Given the description of an element on the screen output the (x, y) to click on. 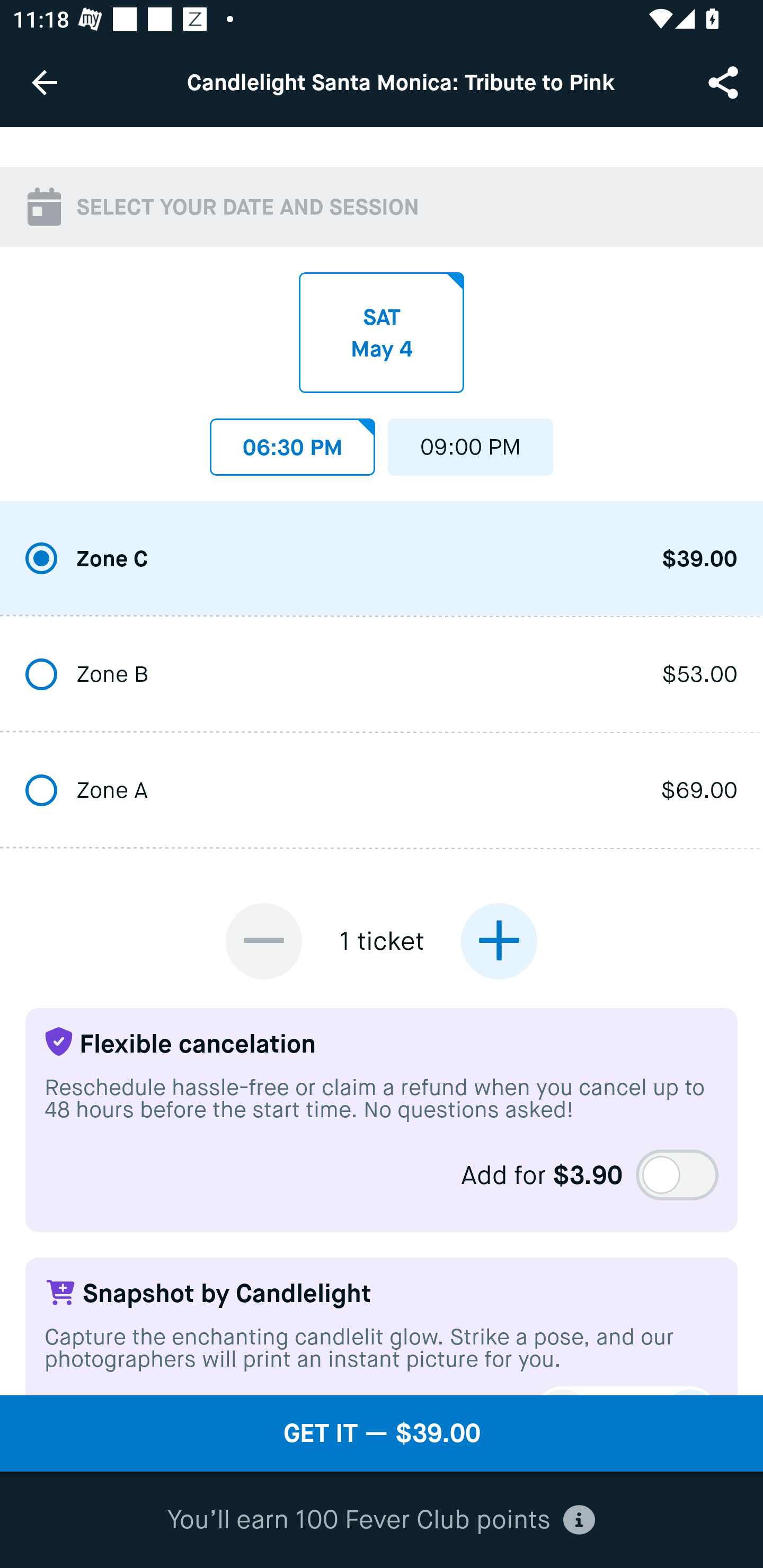
Navigate up (44, 82)
Share (724, 81)
SAT
May 4 (381, 332)
06:30 PM (292, 442)
09:00 PM (470, 442)
Zone C $39.00 (381, 559)
Zone B $53.00 (381, 675)
Zone A $69.00 (381, 791)
decrease (263, 941)
increase (498, 941)
GET IT — $39.00 (381, 1433)
You’ll earn 100 Fever Club points (381, 1519)
